Given the description of an element on the screen output the (x, y) to click on. 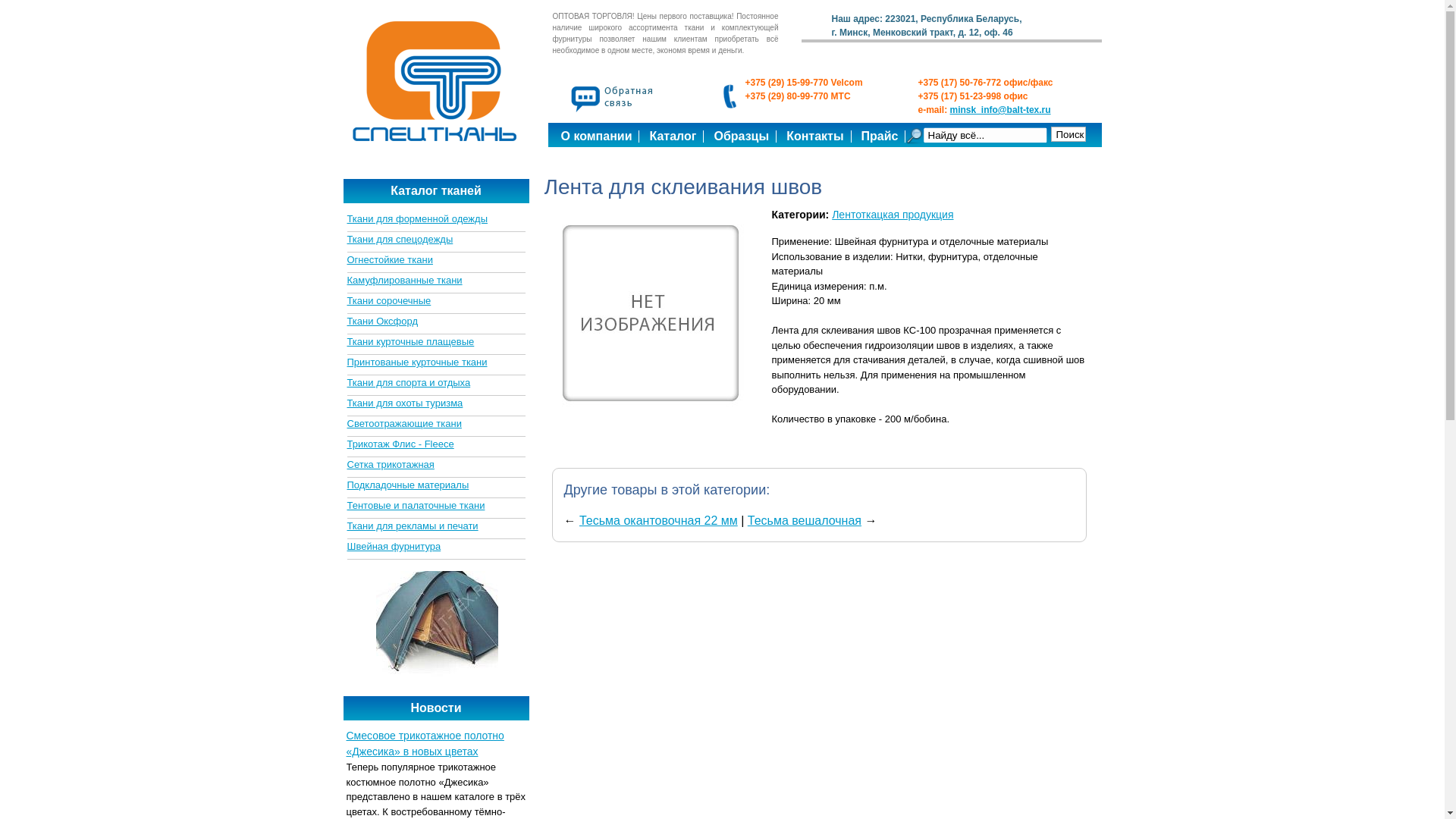
minsk_info@balt-tex.ru Element type: text (1000, 109)
